Given the description of an element on the screen output the (x, y) to click on. 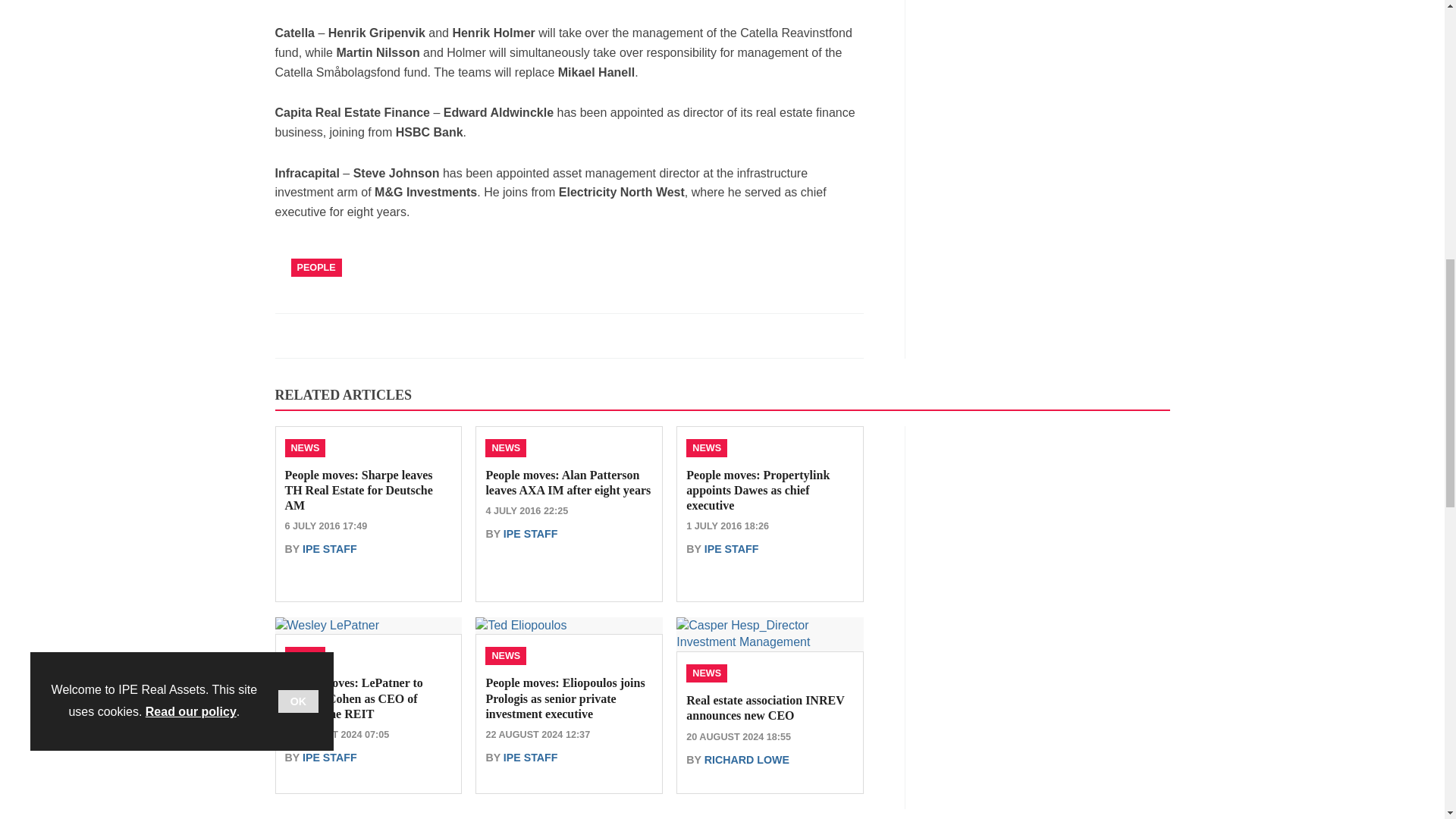
Share this on Facebook (288, 334)
Share this on Linked in (352, 334)
Share this on Twitter (320, 334)
Email this article (386, 334)
